Given the description of an element on the screen output the (x, y) to click on. 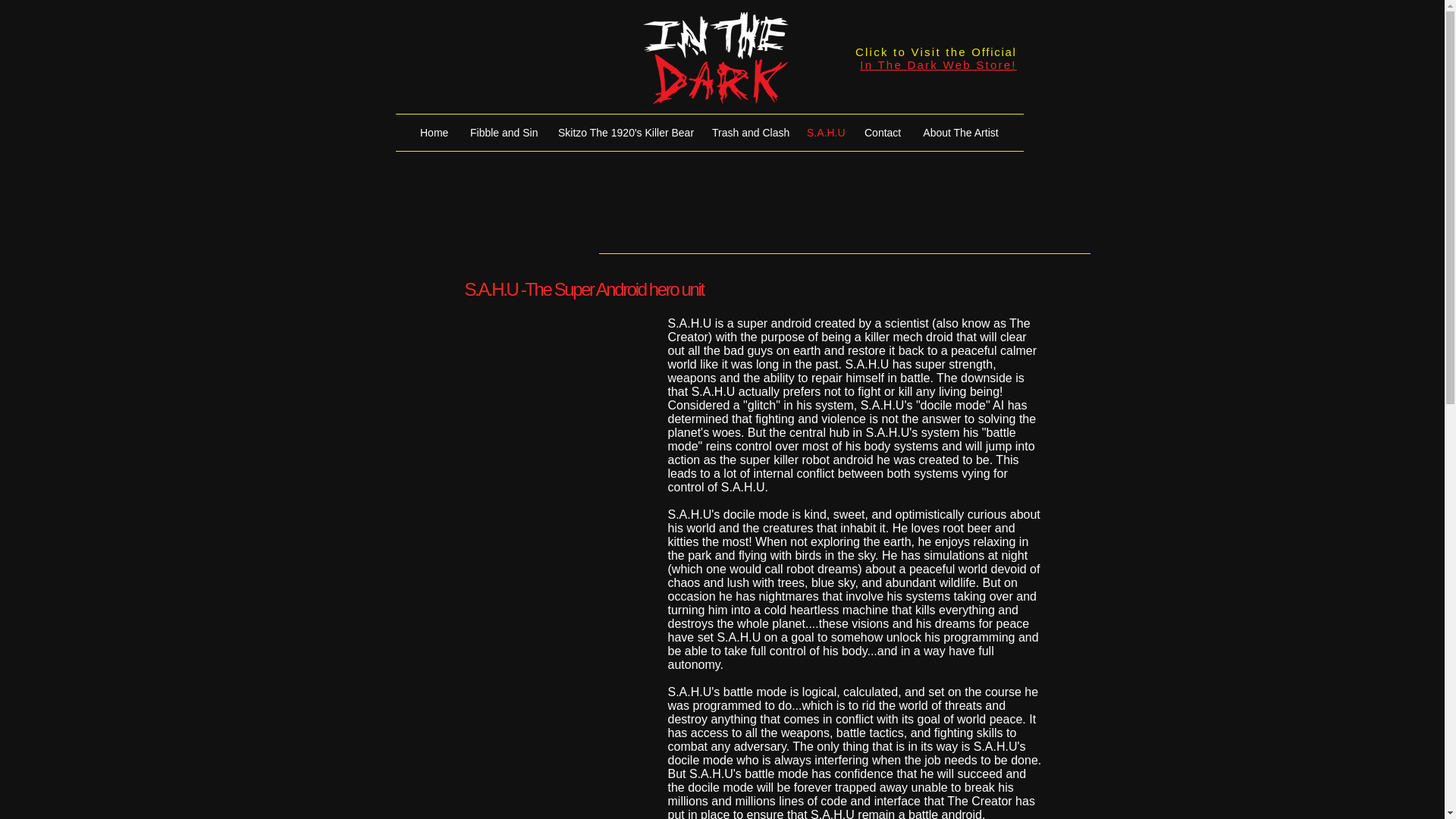
Trash and Clash (747, 132)
Contact (882, 132)
Skitzo The 1920's Killer Bear (623, 132)
S.A.H.U (823, 132)
inthedarktitle2.png (708, 61)
About The Artist (960, 132)
Fibble and Sin (502, 132)
Home (433, 132)
In The Dark Web Store! (938, 64)
